Given the description of an element on the screen output the (x, y) to click on. 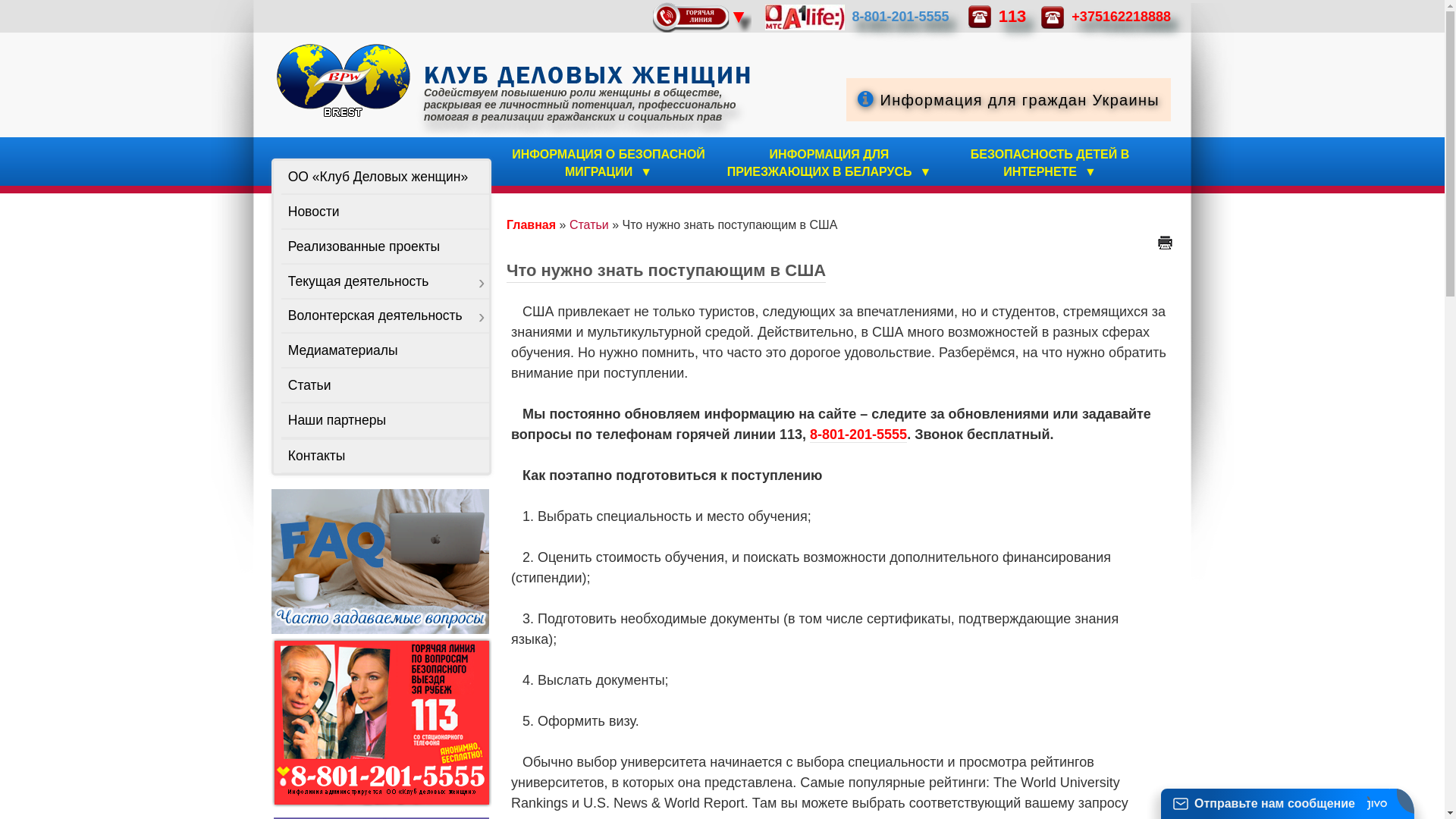
8-801-201-5555 Element type: text (857, 434)
8-801-201-5555 Element type: text (900, 15)
+375162218888 Element type: text (1120, 15)
